Given the description of an element on the screen output the (x, y) to click on. 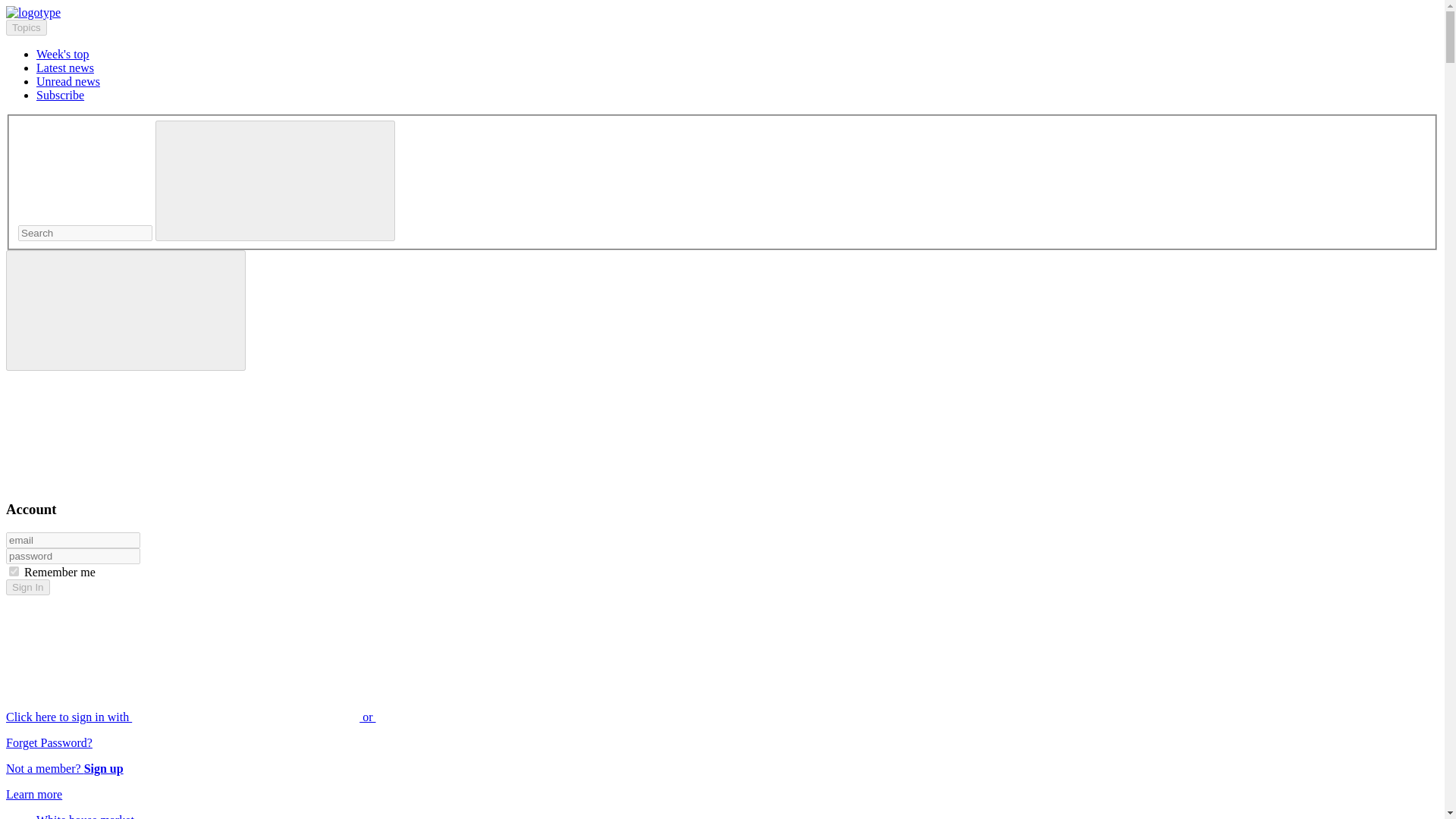
Week's top (62, 53)
Forget Password? (49, 742)
Click here to sign in with or (304, 716)
White house market (84, 816)
on (13, 571)
Not a member? Sign up (64, 768)
White house market (84, 816)
Sign In (27, 587)
Learn more (33, 793)
Unread news (68, 81)
